Given the description of an element on the screen output the (x, y) to click on. 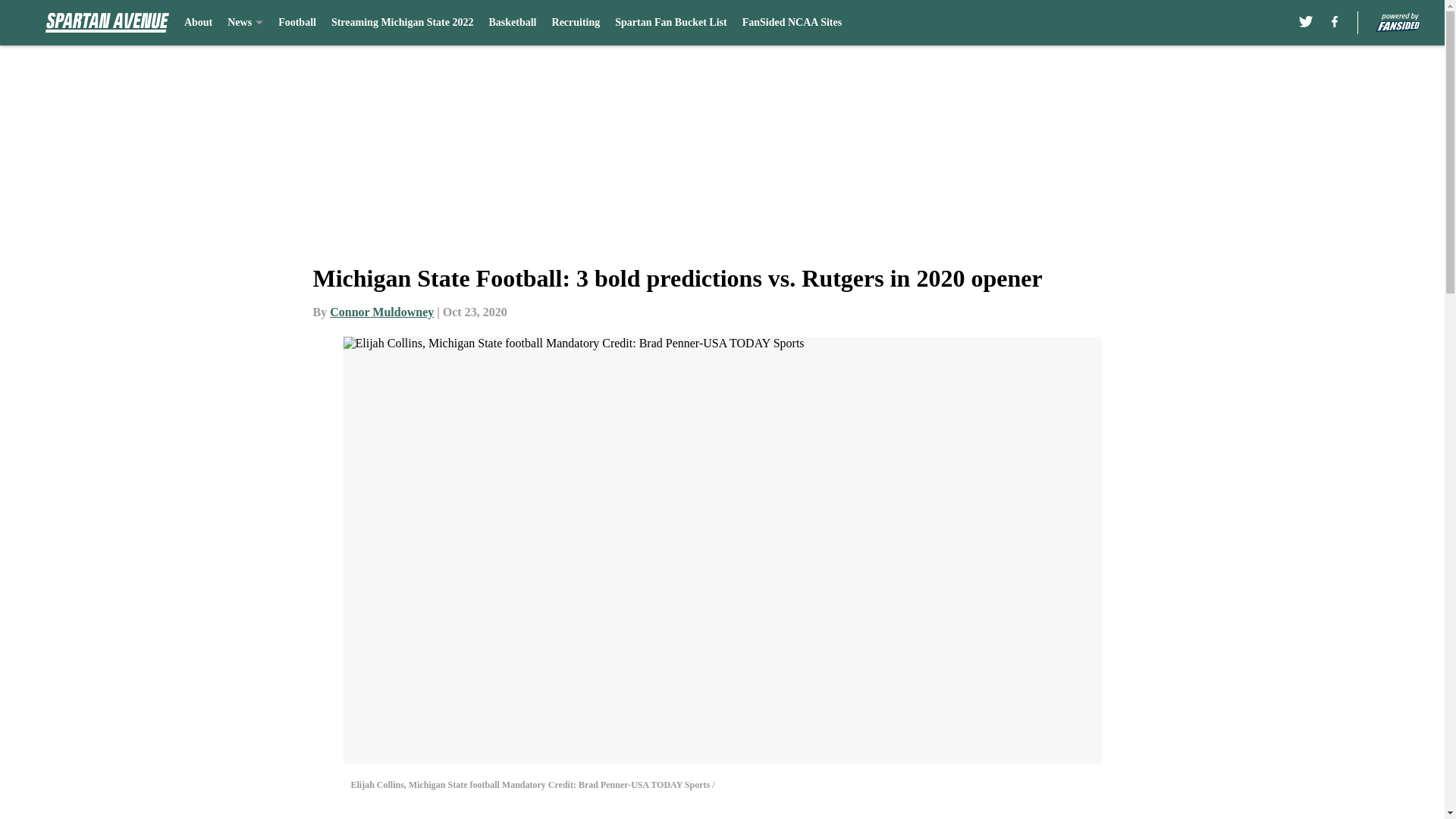
Recruiting (575, 22)
Streaming Michigan State 2022 (402, 22)
Spartan Fan Bucket List (670, 22)
Football (296, 22)
Connor Muldowney (381, 311)
Basketball (511, 22)
About (198, 22)
FanSided NCAA Sites (791, 22)
